Given the description of an element on the screen output the (x, y) to click on. 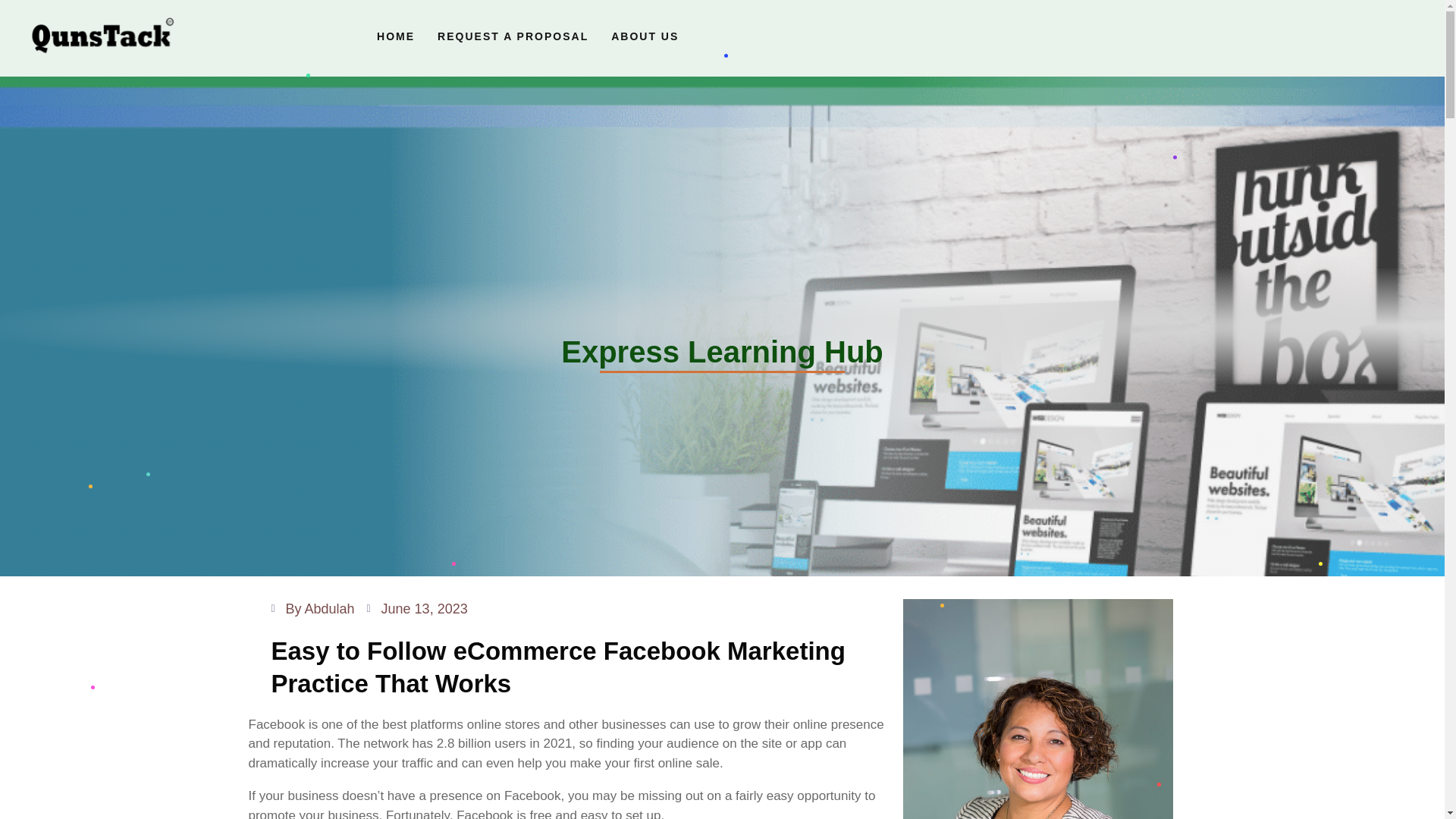
ABOUT US (644, 35)
QunsTack Logo (102, 38)
REQUEST A PROPOSAL (513, 35)
woman-smiling-at-the-camera-1181686.jpg (1037, 708)
